Given the description of an element on the screen output the (x, y) to click on. 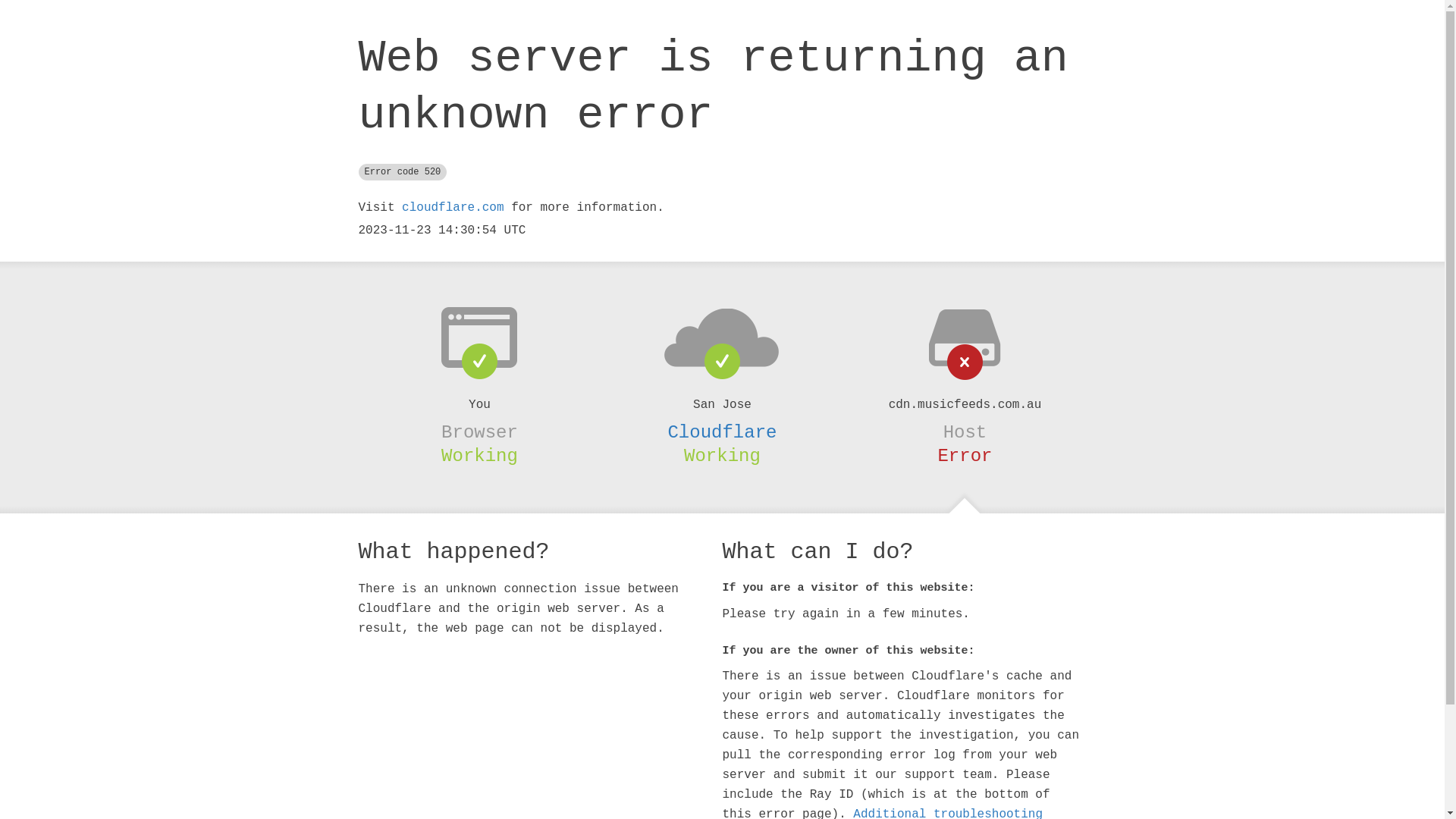
cloudflare.com Element type: text (452, 207)
Cloudflare Element type: text (721, 432)
